Given the description of an element on the screen output the (x, y) to click on. 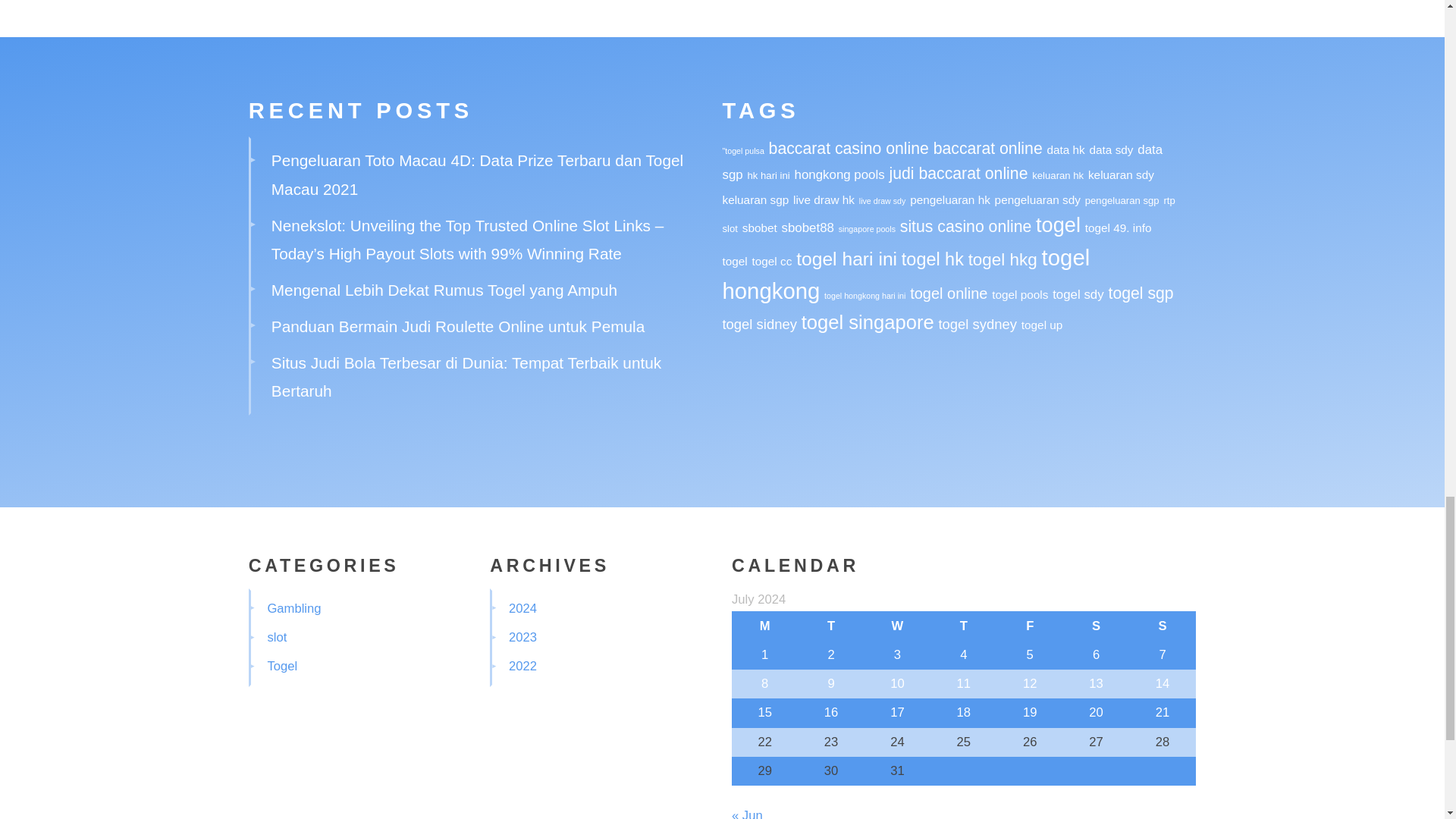
live draw sdy (882, 200)
data hk (1065, 149)
sbobet88 (807, 227)
keluaran hk (1057, 174)
keluaran sdy (1120, 174)
Mengenal Lebih Dekat Rumus Togel yang Ampuh (443, 289)
keluaran sgp (755, 199)
sbobet (759, 227)
data sdy (1111, 149)
pengeluaran sdy (1037, 199)
Panduan Bermain Judi Roulette Online untuk Pemula (457, 325)
Thursday (962, 624)
Sunday (1162, 624)
